Given the description of an element on the screen output the (x, y) to click on. 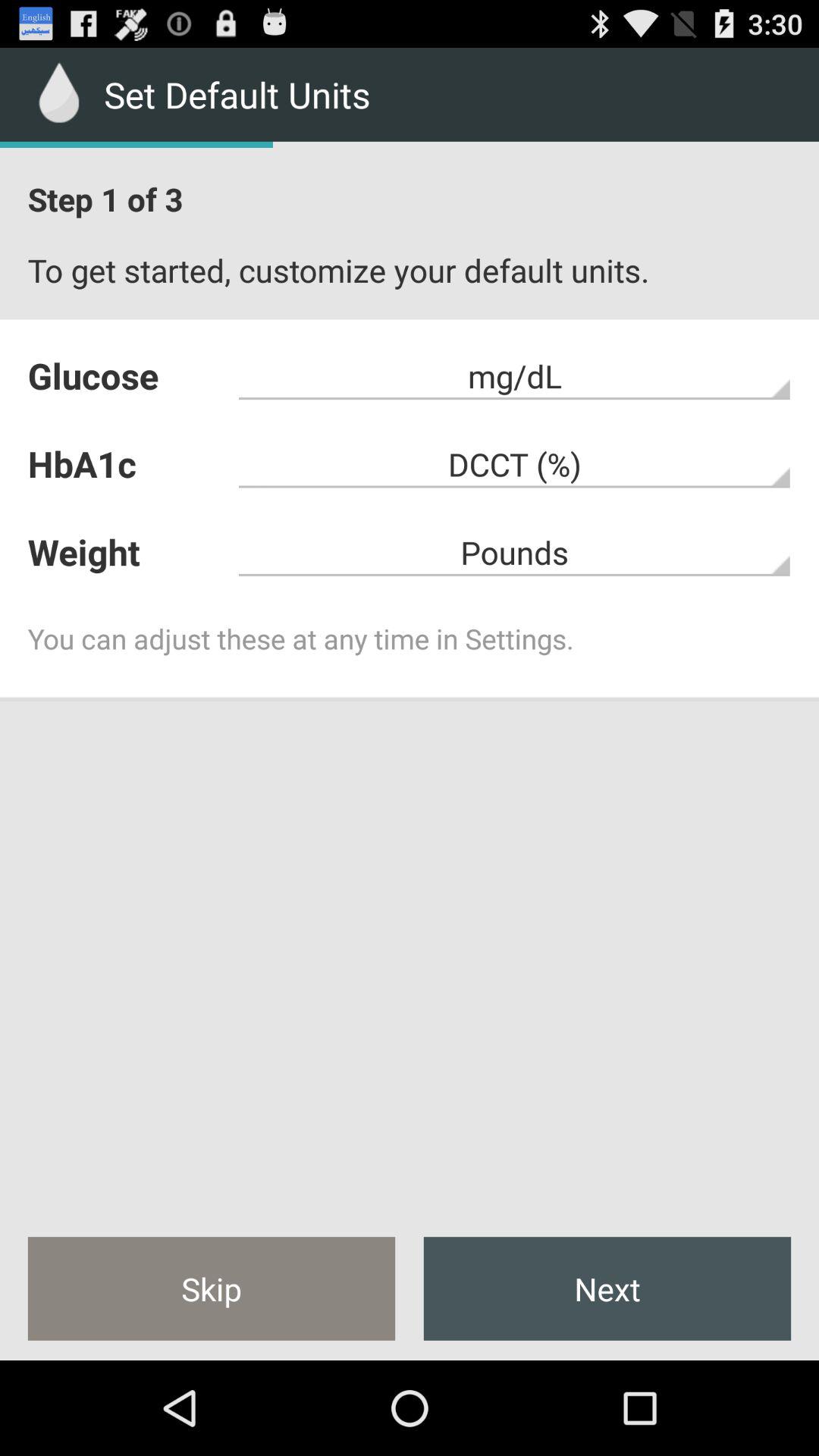
turn off the mg/dl item (514, 375)
